Given the description of an element on the screen output the (x, y) to click on. 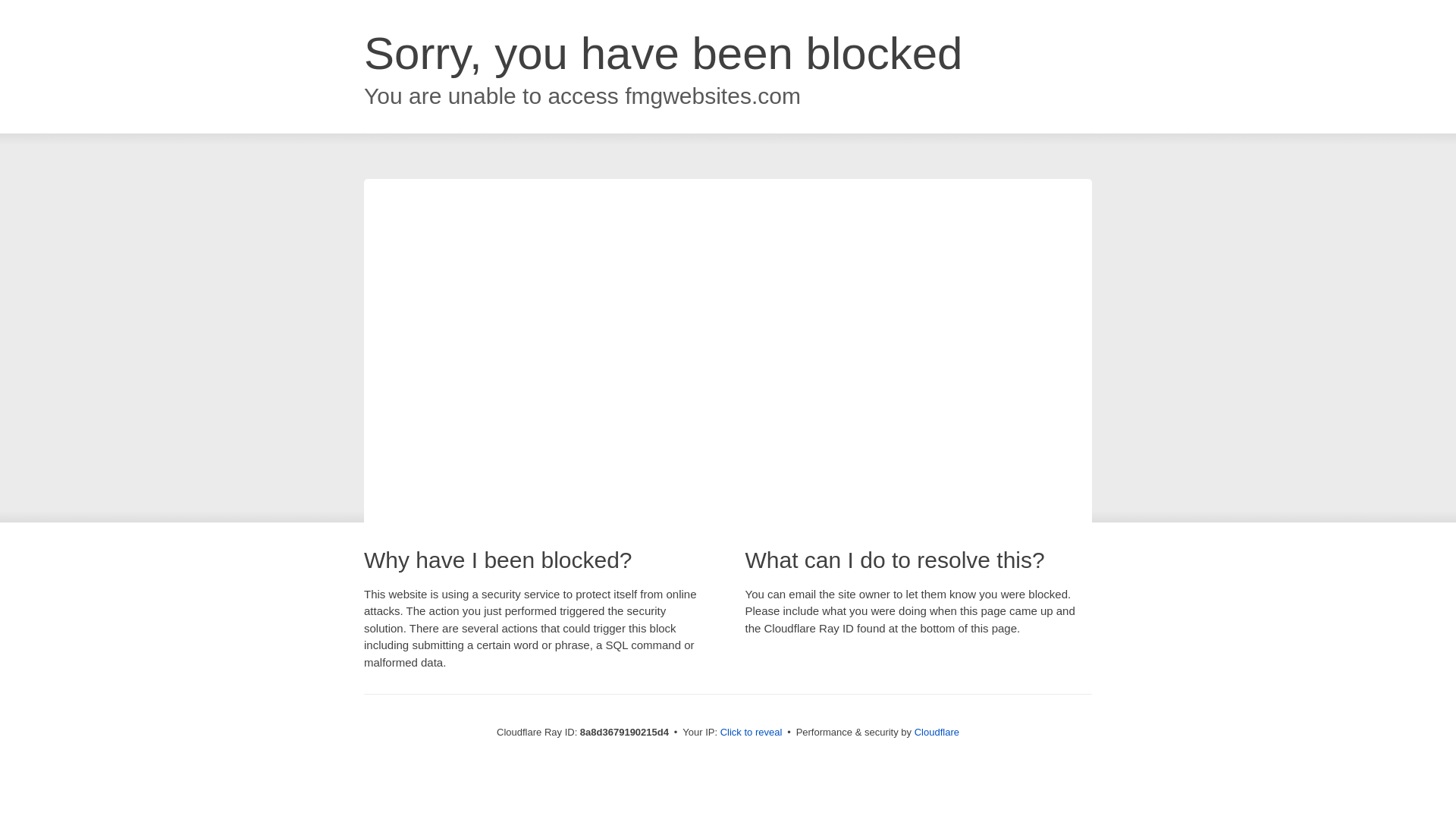
Click to reveal (751, 732)
Cloudflare (936, 731)
